Given the description of an element on the screen output the (x, y) to click on. 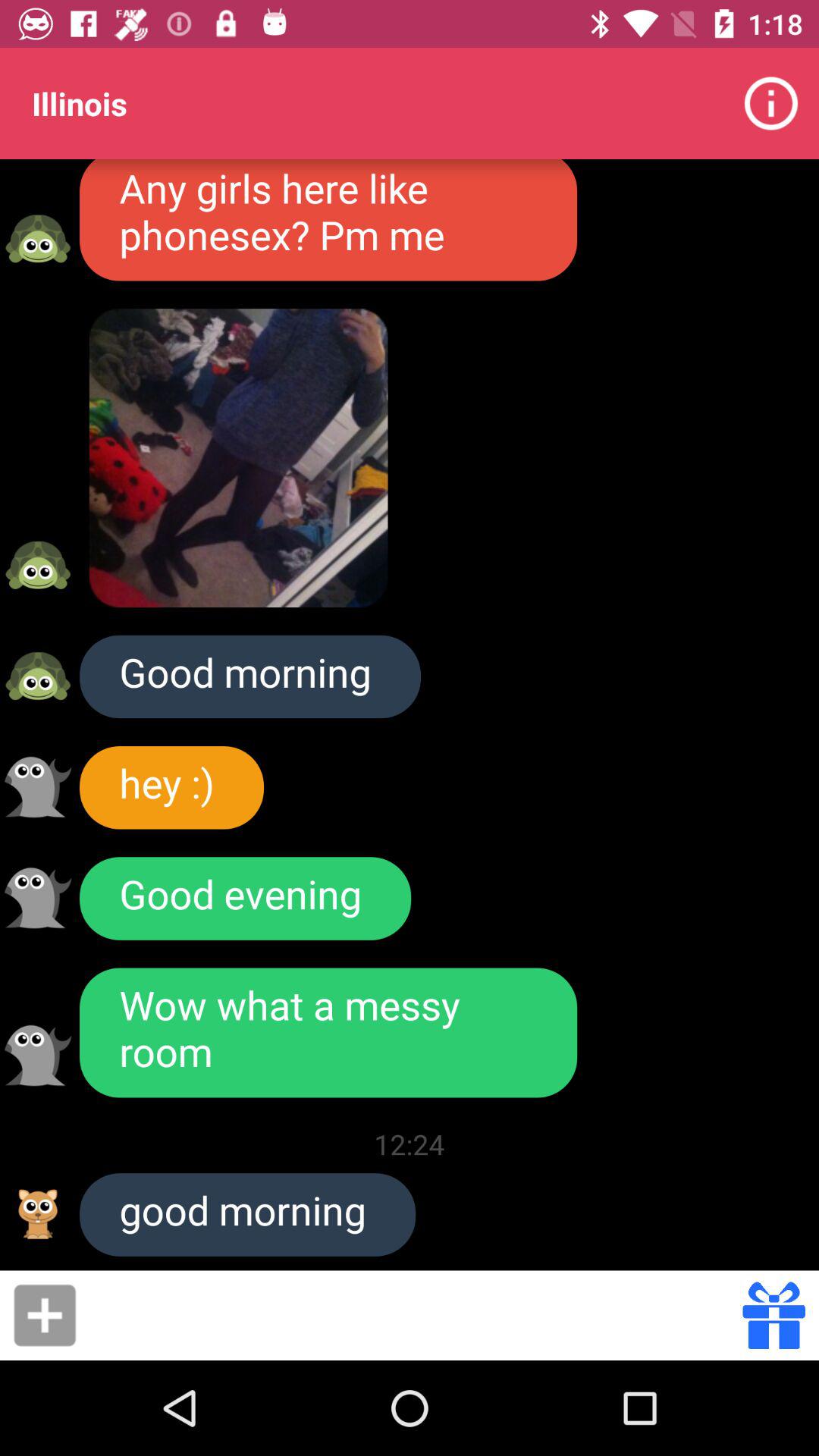
choose icon next to any girls here item (771, 103)
